Given the description of an element on the screen output the (x, y) to click on. 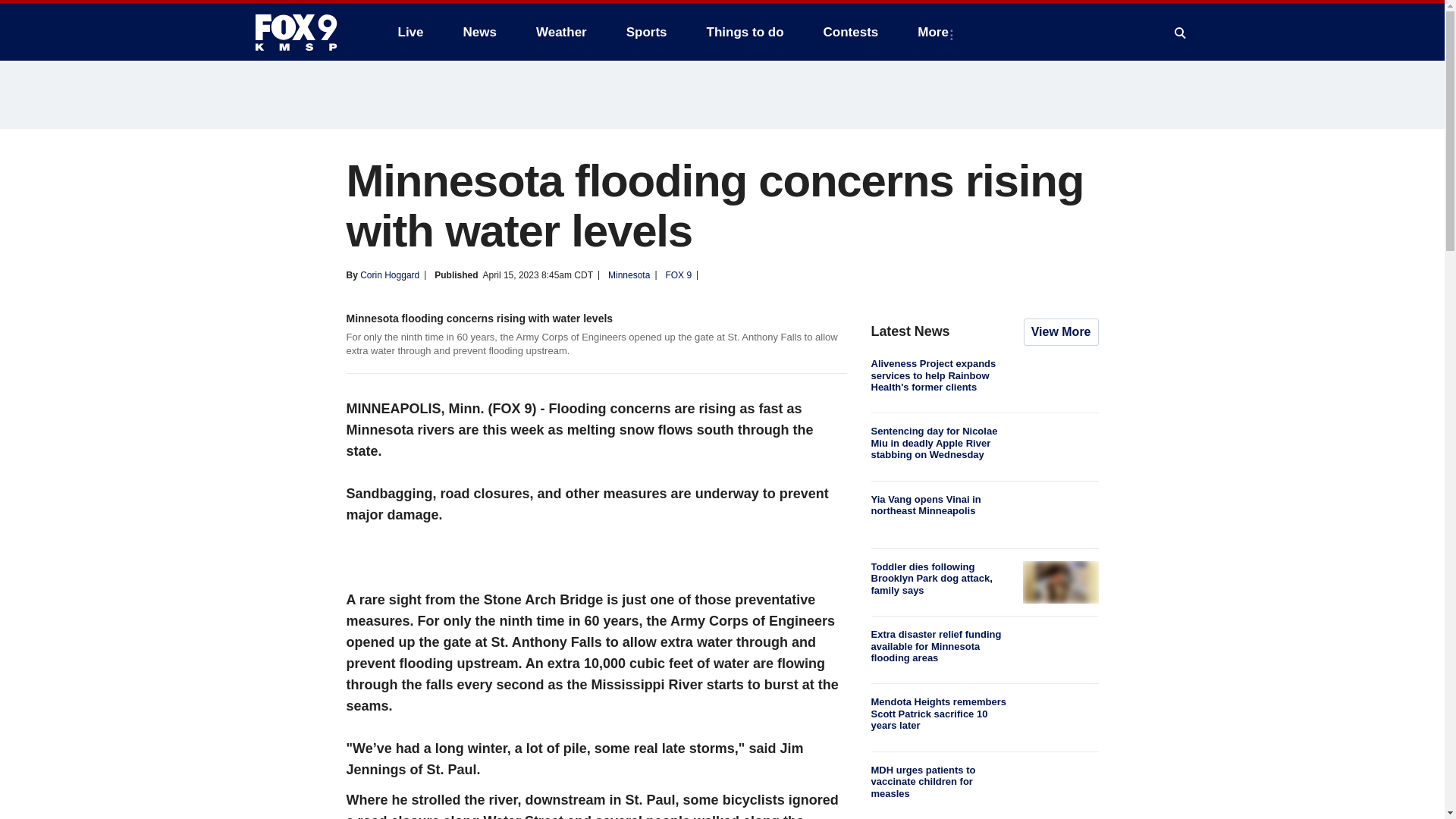
Live (410, 32)
Contests (850, 32)
News (479, 32)
Weather (561, 32)
Sports (646, 32)
Things to do (745, 32)
More (935, 32)
